Given the description of an element on the screen output the (x, y) to click on. 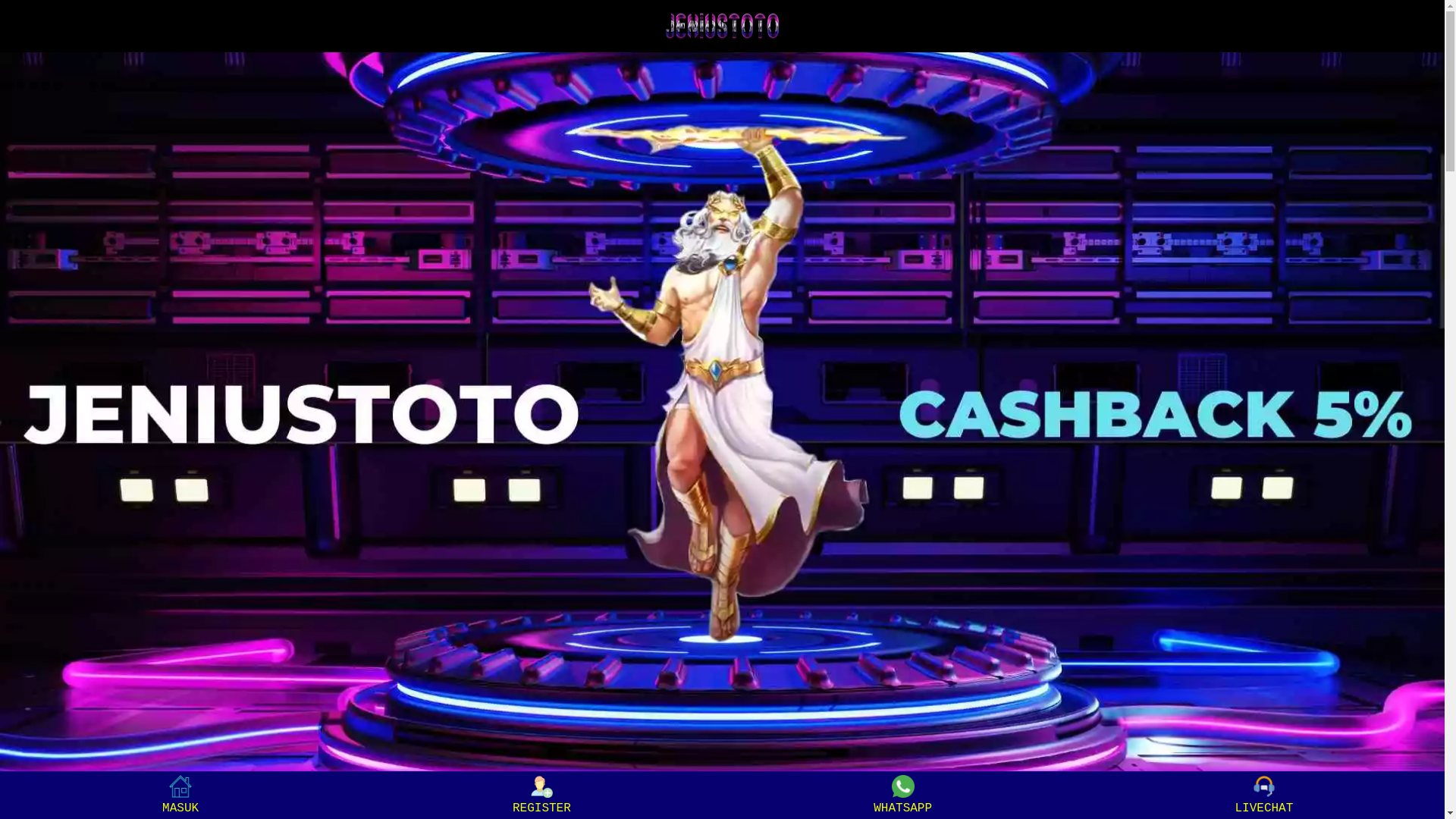
WHATSAPP Element type: text (902, 795)
MASUK Element type: text (180, 795)
Togel Hongkong Hari Ini Element type: hover (722, 413)
REGISTER Element type: text (541, 795)
LIVECHAT Element type: text (1263, 795)
